Given the description of an element on the screen output the (x, y) to click on. 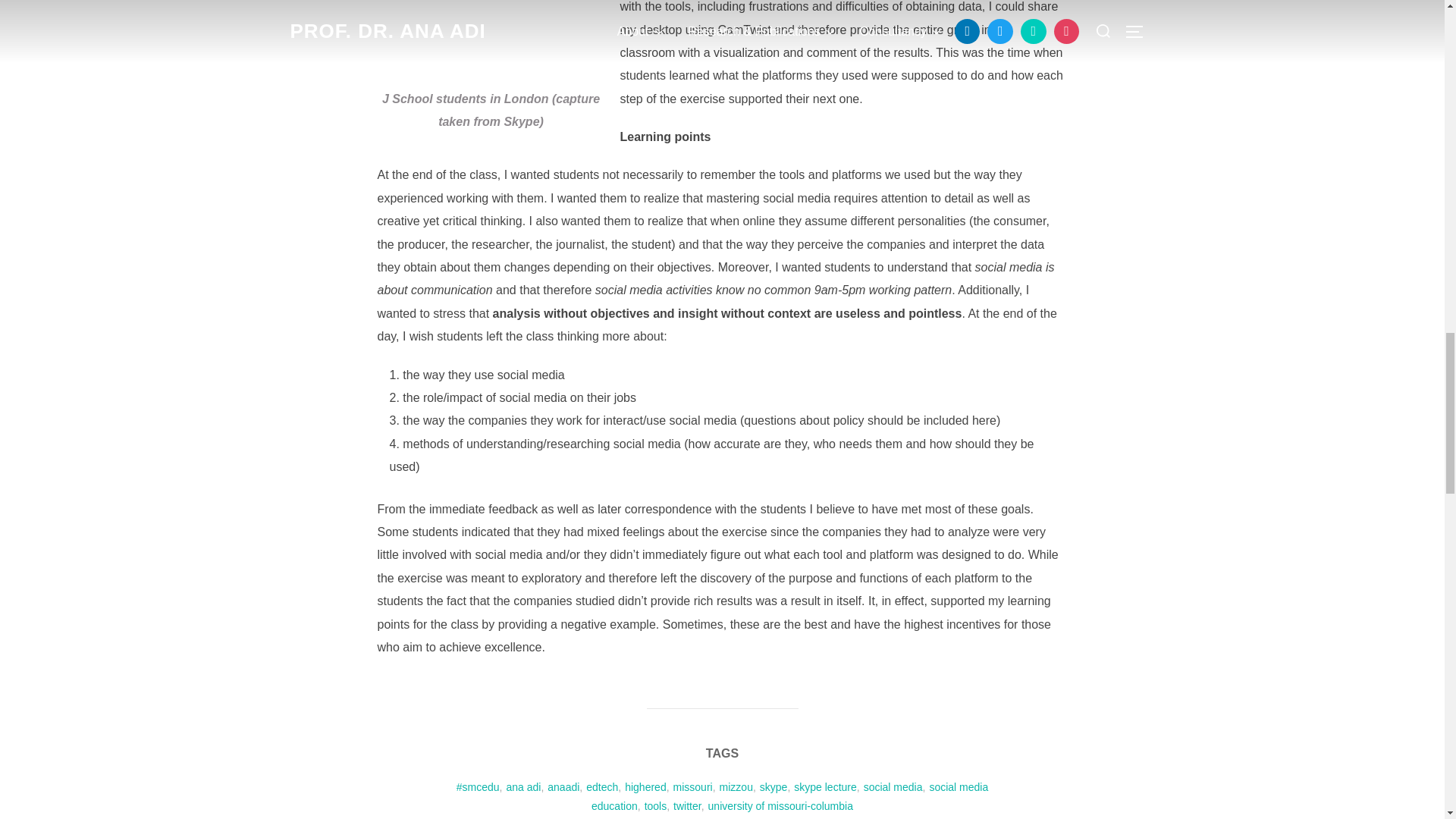
Picture 1 (491, 38)
